Given the description of an element on the screen output the (x, y) to click on. 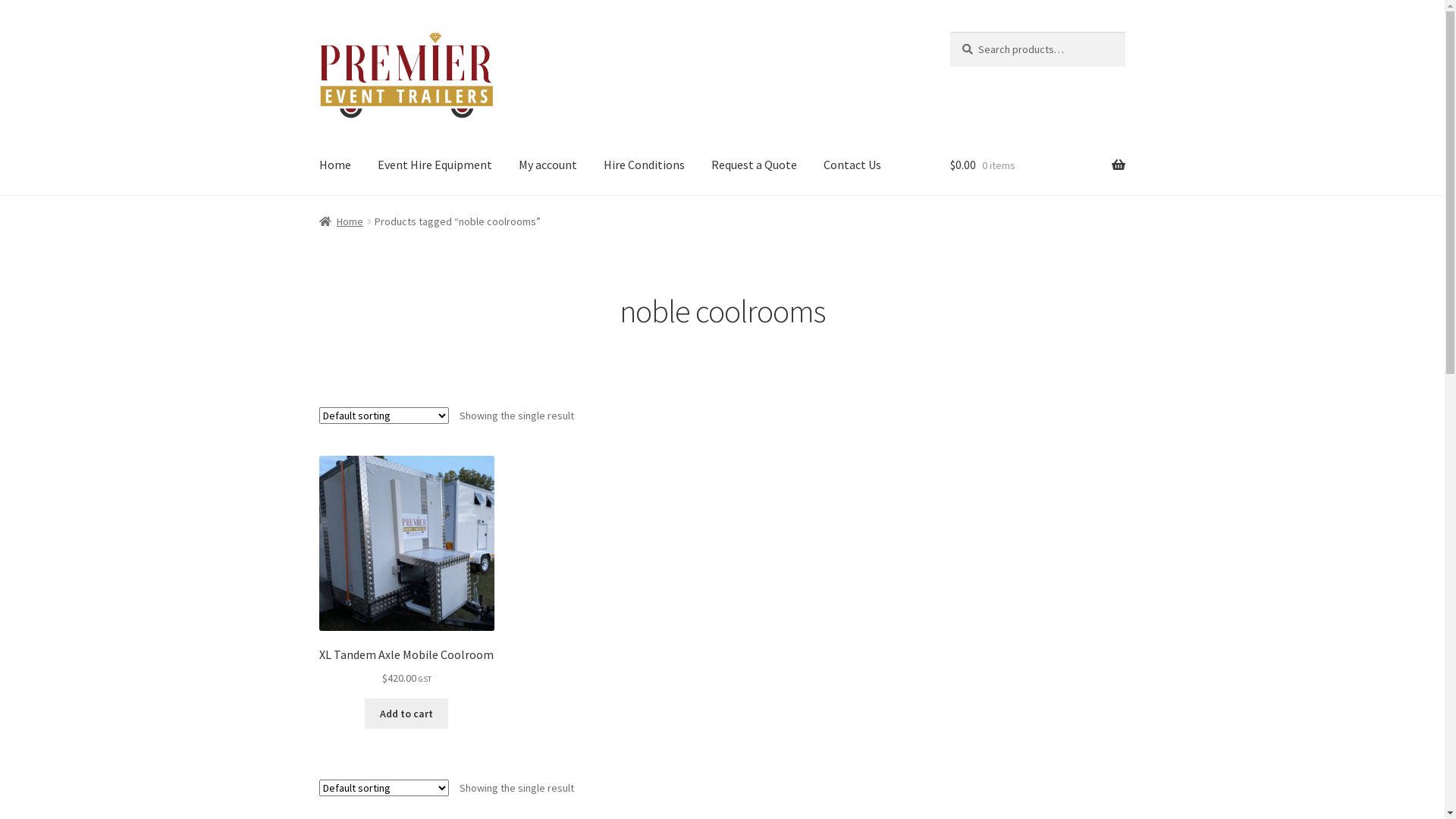
$0.00 0 items Element type: text (1037, 165)
Add to cart Element type: text (406, 713)
Request a Quote Element type: text (754, 165)
Contact Us Element type: text (852, 165)
Search Element type: text (949, 31)
XL Tandem Axle Mobile Coolroom
$420.00 GST Element type: text (406, 571)
Hire Conditions Element type: text (643, 165)
Event Hire Equipment Element type: text (434, 165)
Home Element type: text (341, 221)
My account Element type: text (547, 165)
Home Element type: text (335, 165)
